Given the description of an element on the screen output the (x, y) to click on. 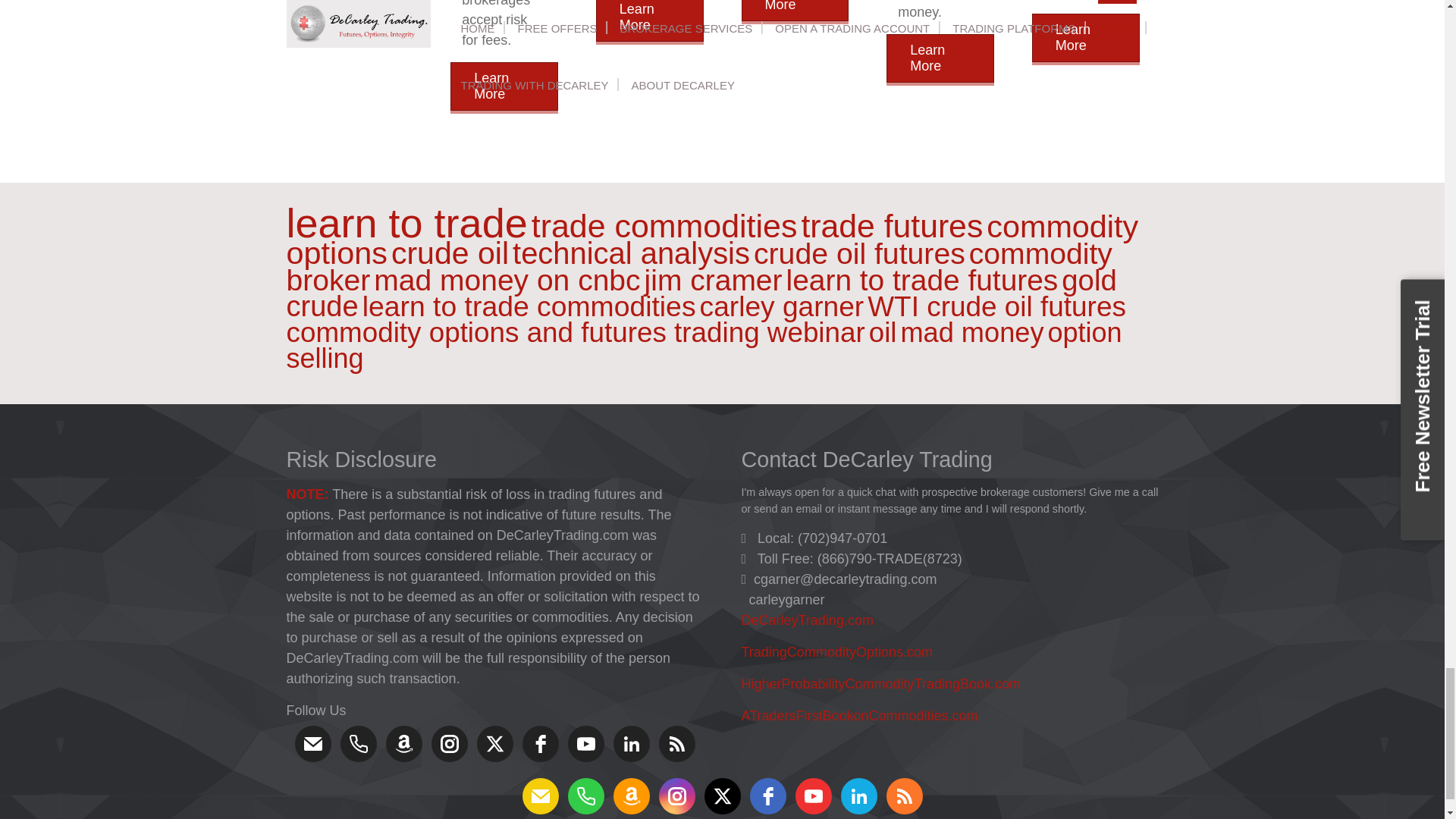
Twitter (494, 743)
Amazon (403, 743)
Facebook (539, 743)
Email (312, 743)
Instagram (448, 743)
Phone (357, 743)
